Given the description of an element on the screen output the (x, y) to click on. 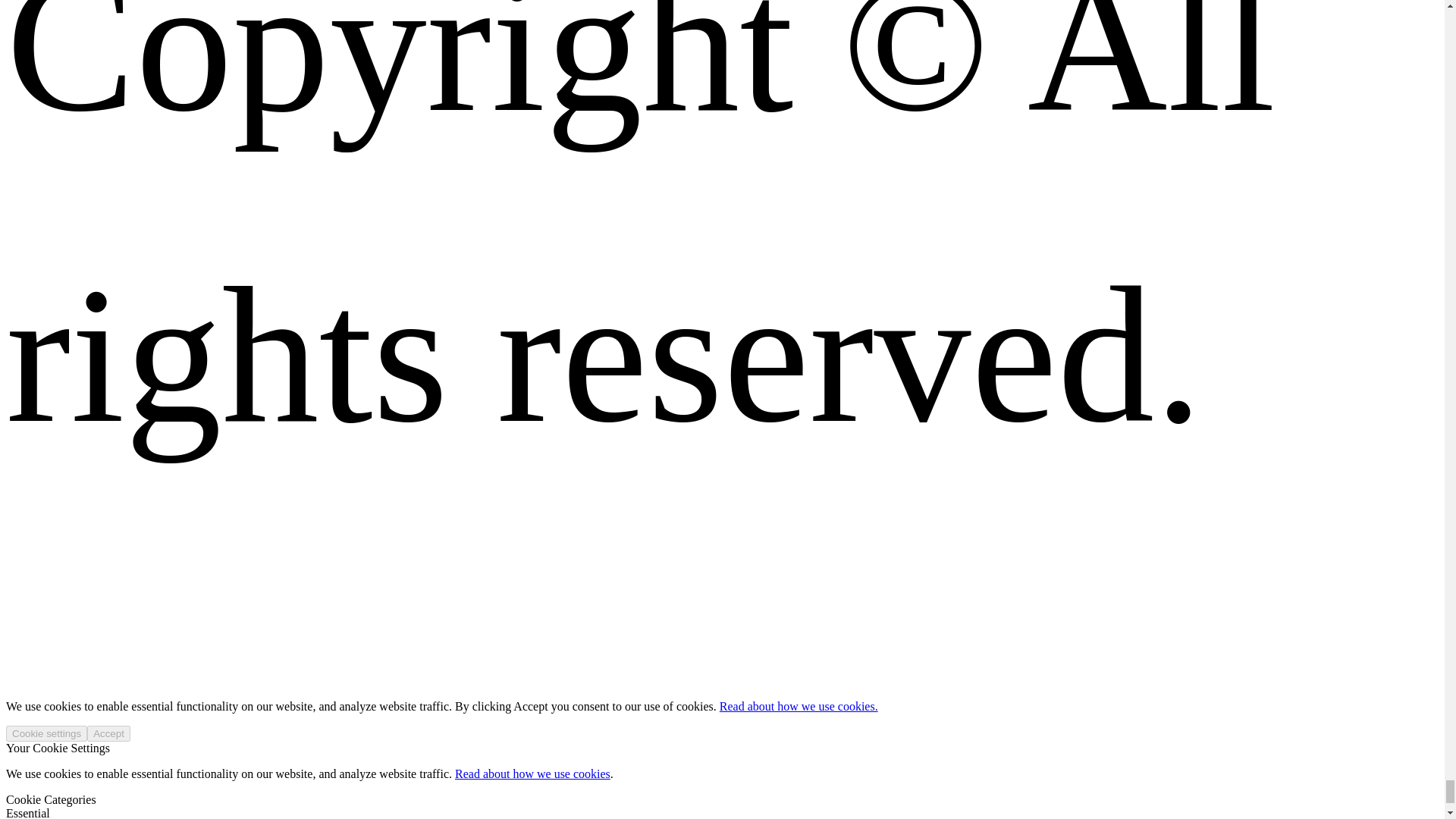
Accept (109, 733)
Read about how we use cookies (532, 773)
Cookie settings (46, 733)
Read about how we use cookies. (798, 706)
